Given the description of an element on the screen output the (x, y) to click on. 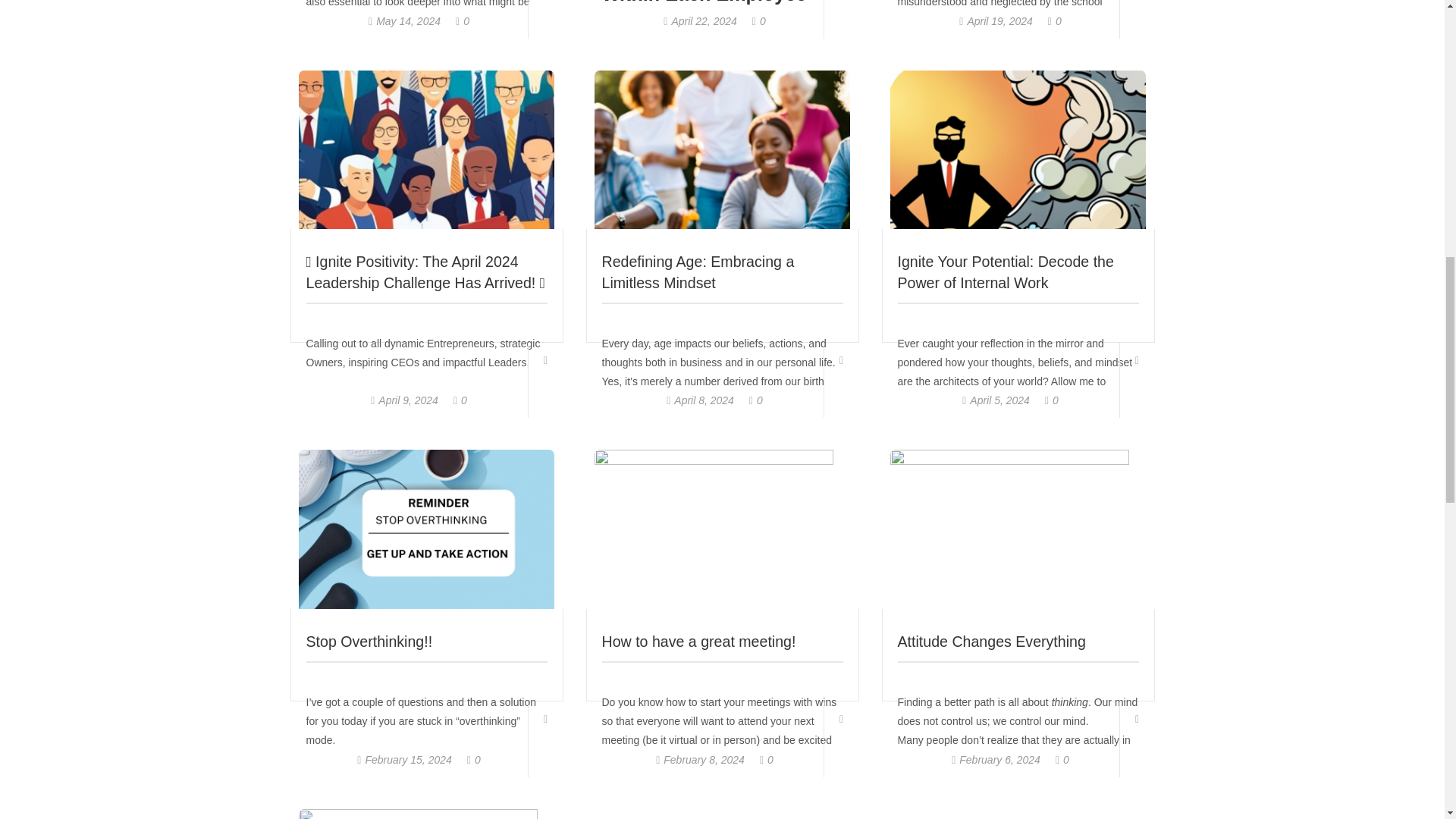
Share (1136, 19)
Share (841, 19)
Share (544, 19)
